Given the description of an element on the screen output the (x, y) to click on. 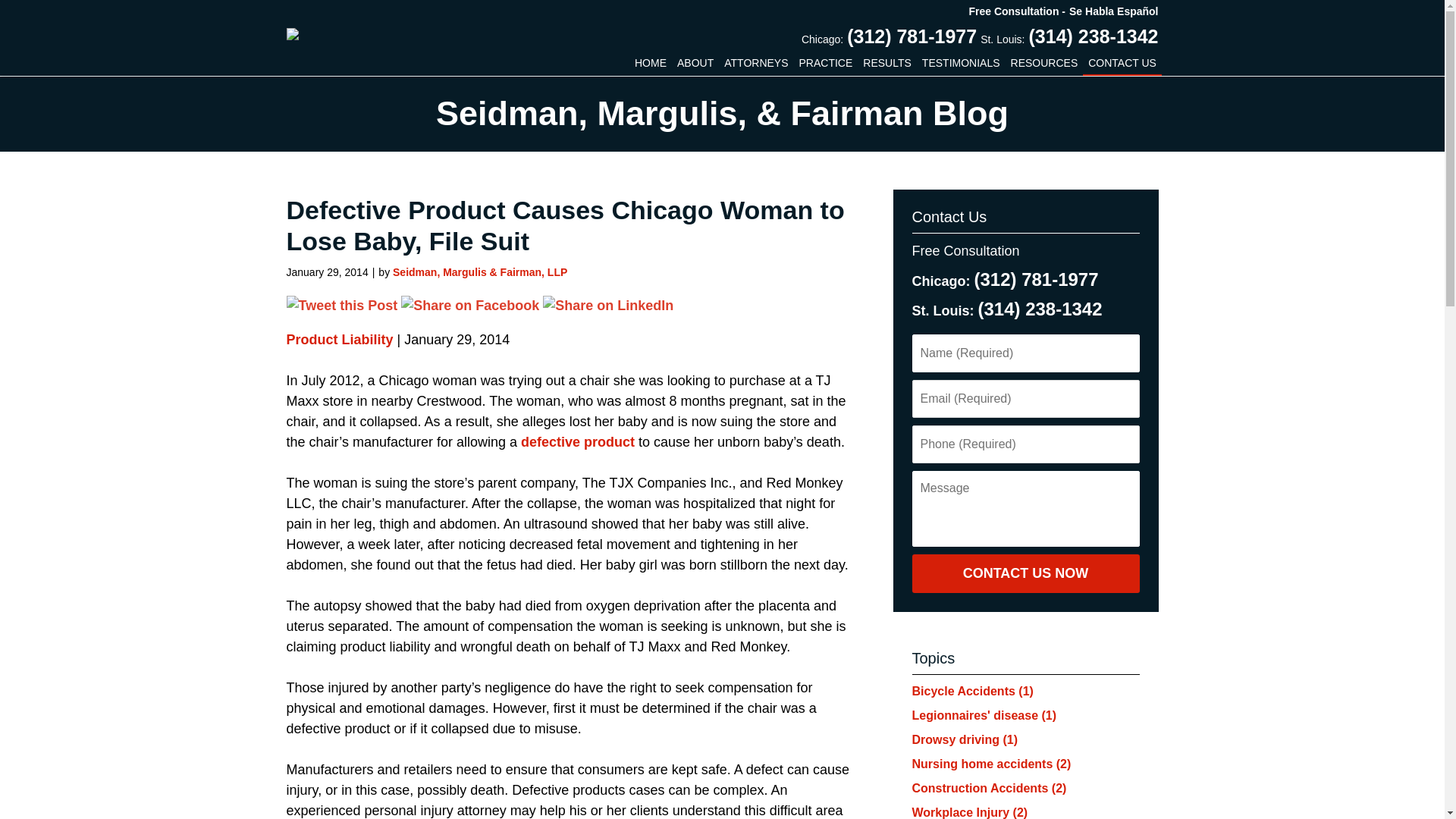
defective product (577, 441)
RESOURCES (1044, 63)
CONTACT US NOW (1024, 573)
HOME (649, 63)
PRACTICE (826, 63)
Please enter a valid phone number. (1024, 444)
Product Liability (339, 339)
Free Consultation (1018, 11)
CONTACT US (1122, 63)
ABOUT (695, 63)
